Given the description of an element on the screen output the (x, y) to click on. 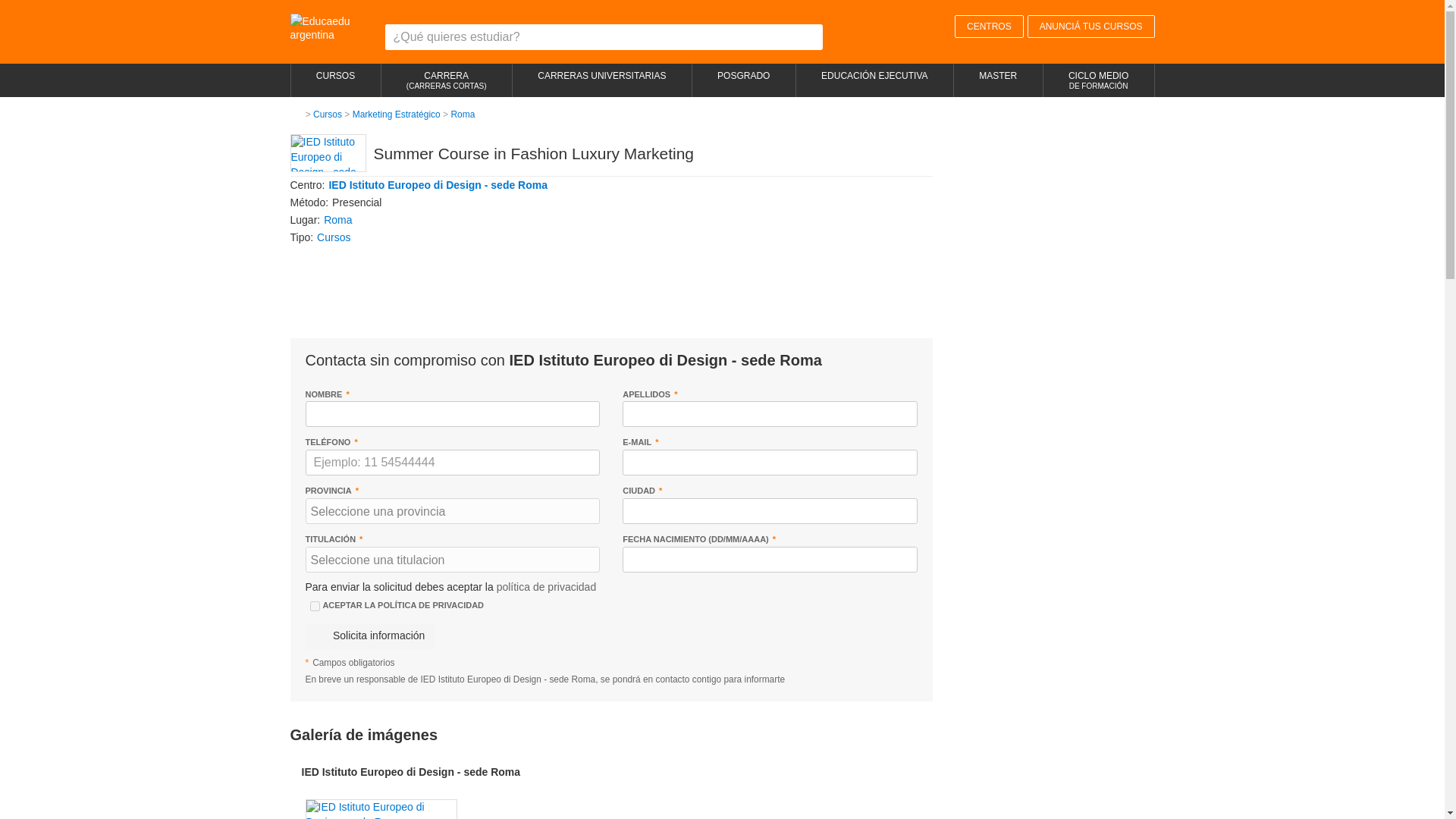
Cursos (335, 74)
argentina (328, 26)
CURSOS (335, 74)
Cursos (327, 113)
Ir a inicio (295, 113)
Centros (989, 26)
MASTER (997, 74)
Roma (337, 219)
Master (997, 74)
on (313, 605)
Roma (337, 219)
IED Istituto Europeo di Design - sede Roma (438, 184)
CENTROS (989, 26)
Educaedu Argentina (328, 26)
IED Istituto Europeo di Design - sede Roma (438, 184)
